Given the description of an element on the screen output the (x, y) to click on. 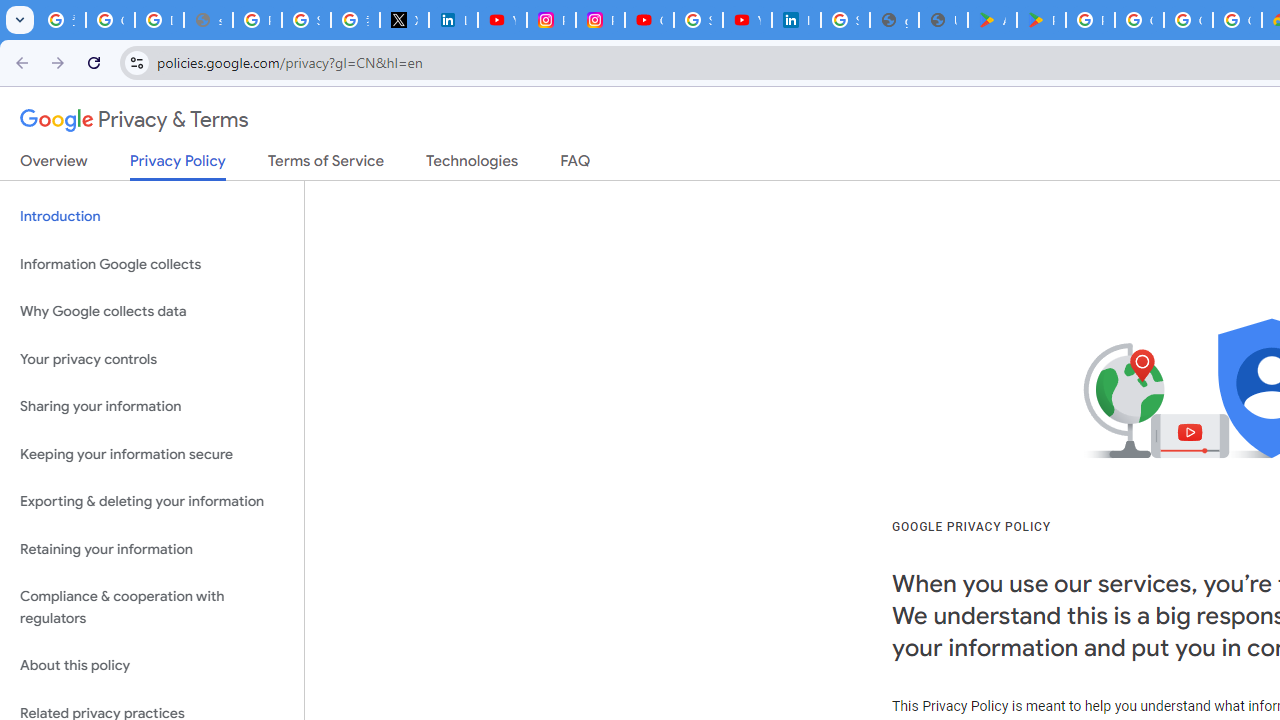
Google Workspace - Specific Terms (1188, 20)
Exporting & deleting your information (152, 502)
YouTube Content Monetization Policies - How YouTube Works (502, 20)
Compliance & cooperation with regulators (152, 607)
Android Apps on Google Play (992, 20)
X (404, 20)
Privacy Help Center - Policies Help (257, 20)
Sign in - Google Accounts (845, 20)
Retaining your information (152, 548)
